Given the description of an element on the screen output the (x, y) to click on. 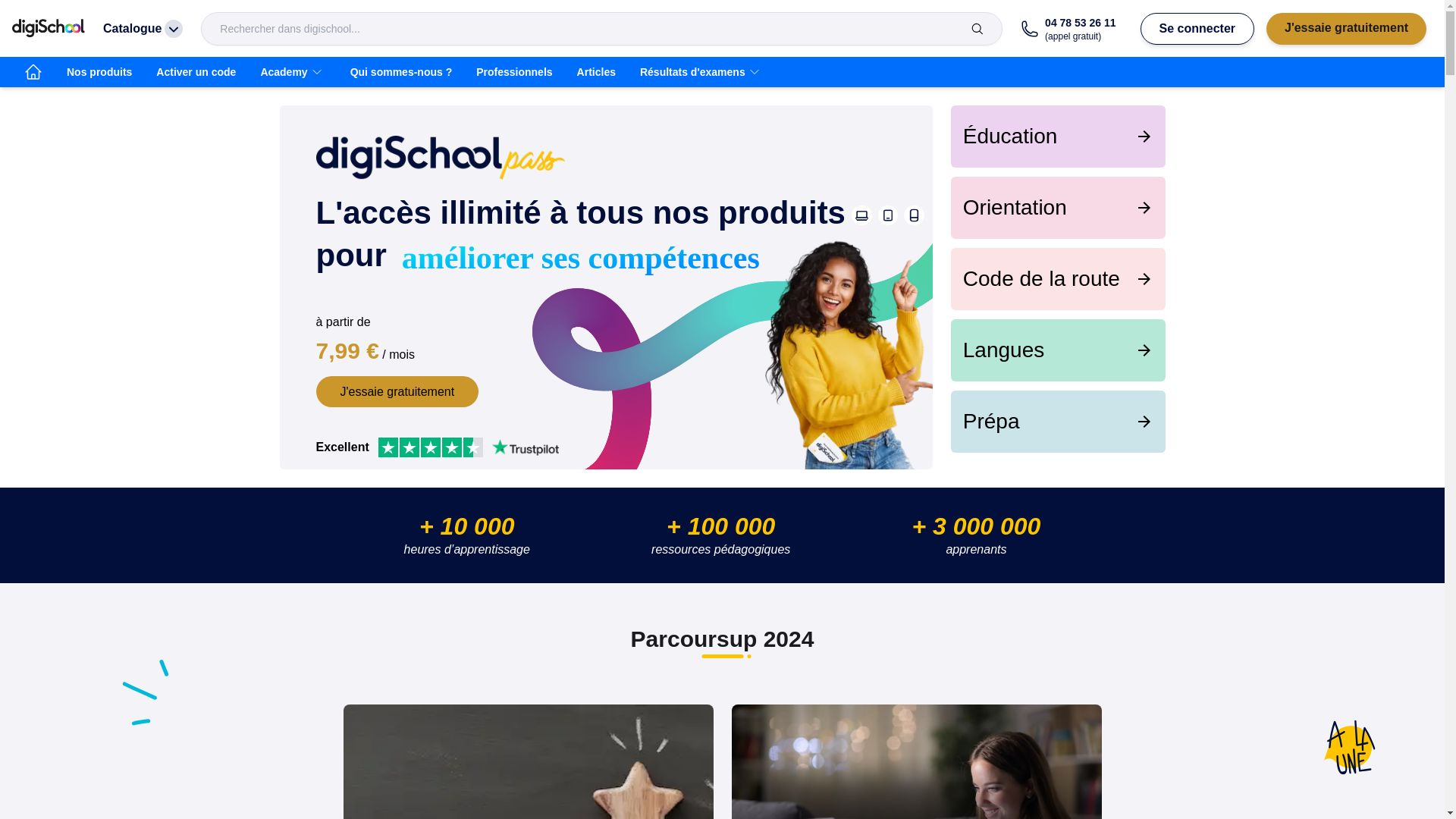
Code de la route (1058, 279)
Academy (292, 71)
J'essaie gratuitement (397, 391)
Catalogue (143, 28)
Langues (1058, 350)
Professionnels (514, 71)
Nos produits (99, 71)
Activer un code (195, 71)
Orientation (1058, 207)
Qui sommes-nous ? (400, 71)
Se connecter (1196, 28)
Articles (595, 71)
J'essaie gratuitement (1346, 28)
